Given the description of an element on the screen output the (x, y) to click on. 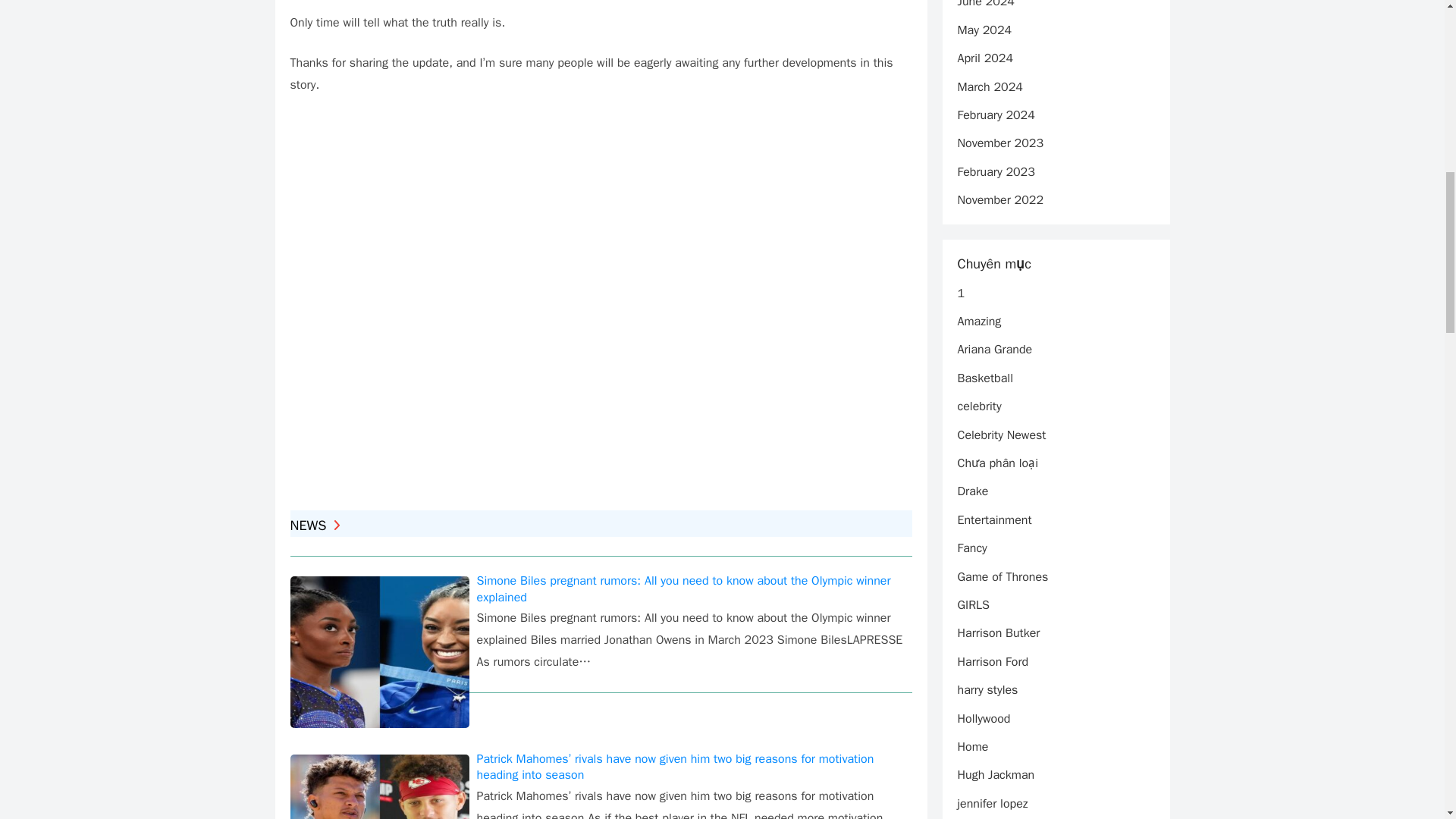
NEWS (314, 524)
